Given the description of an element on the screen output the (x, y) to click on. 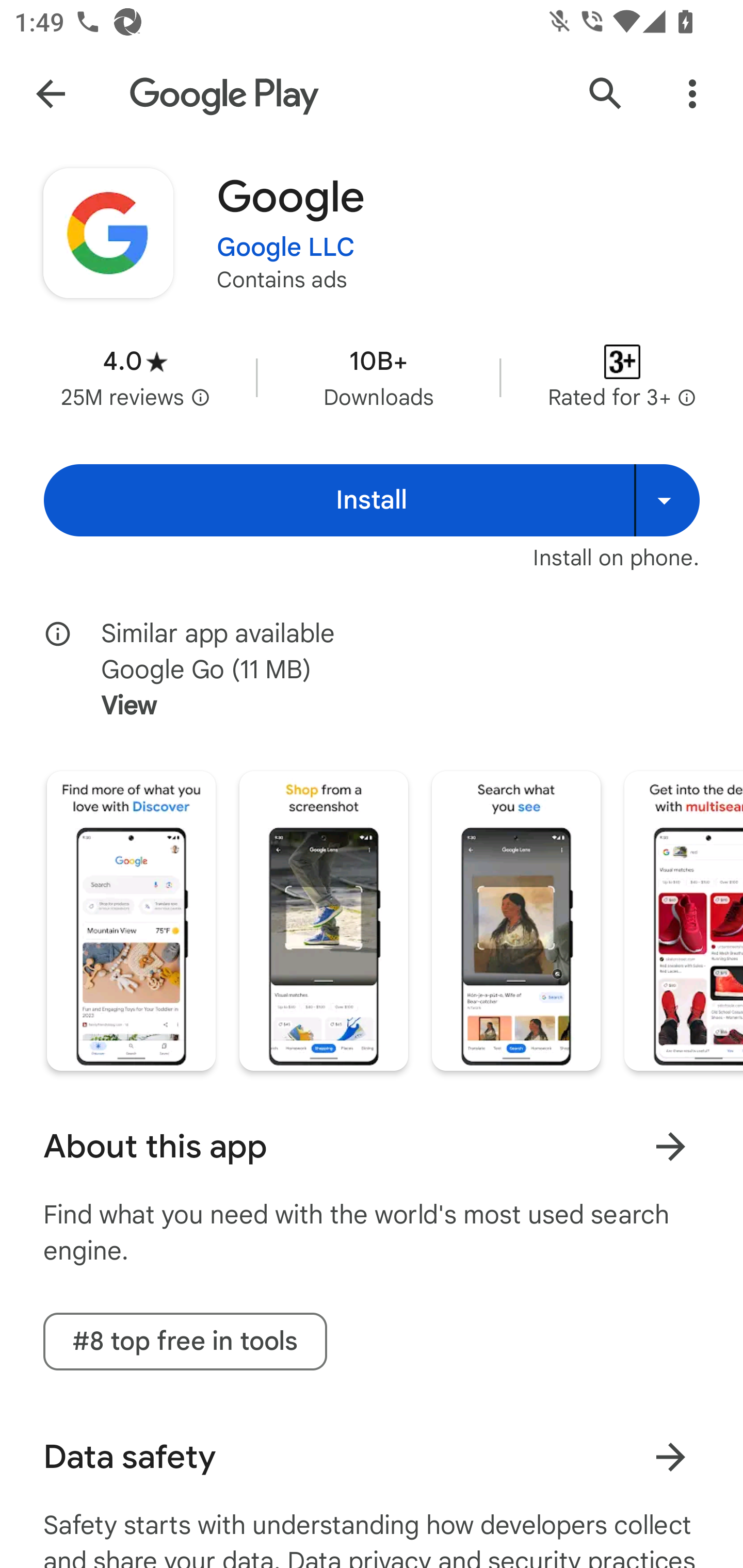
Navigate up (50, 93)
Search Google Play (605, 93)
More Options (692, 93)
Google LLC (285, 247)
Average rating 4.0 stars in 25 million reviews (135, 377)
Content rating Rated for 3+ (622, 377)
Install Install Install on more devices (371, 500)
Install on more devices (667, 500)
Similar app available
Google Go (11 MB)
View (385, 670)
Screenshot "1" of "5" (130, 920)
Screenshot "2" of "5" (323, 920)
Screenshot "3" of "5" (515, 920)
Screenshot "4" of "5" (683, 920)
About this app Learn more About this app (371, 1146)
Learn more About this app (670, 1146)
#8 top free in tools tag (184, 1341)
Data safety Learn more about data safety (371, 1457)
Learn more about data safety (670, 1457)
